Given the description of an element on the screen output the (x, y) to click on. 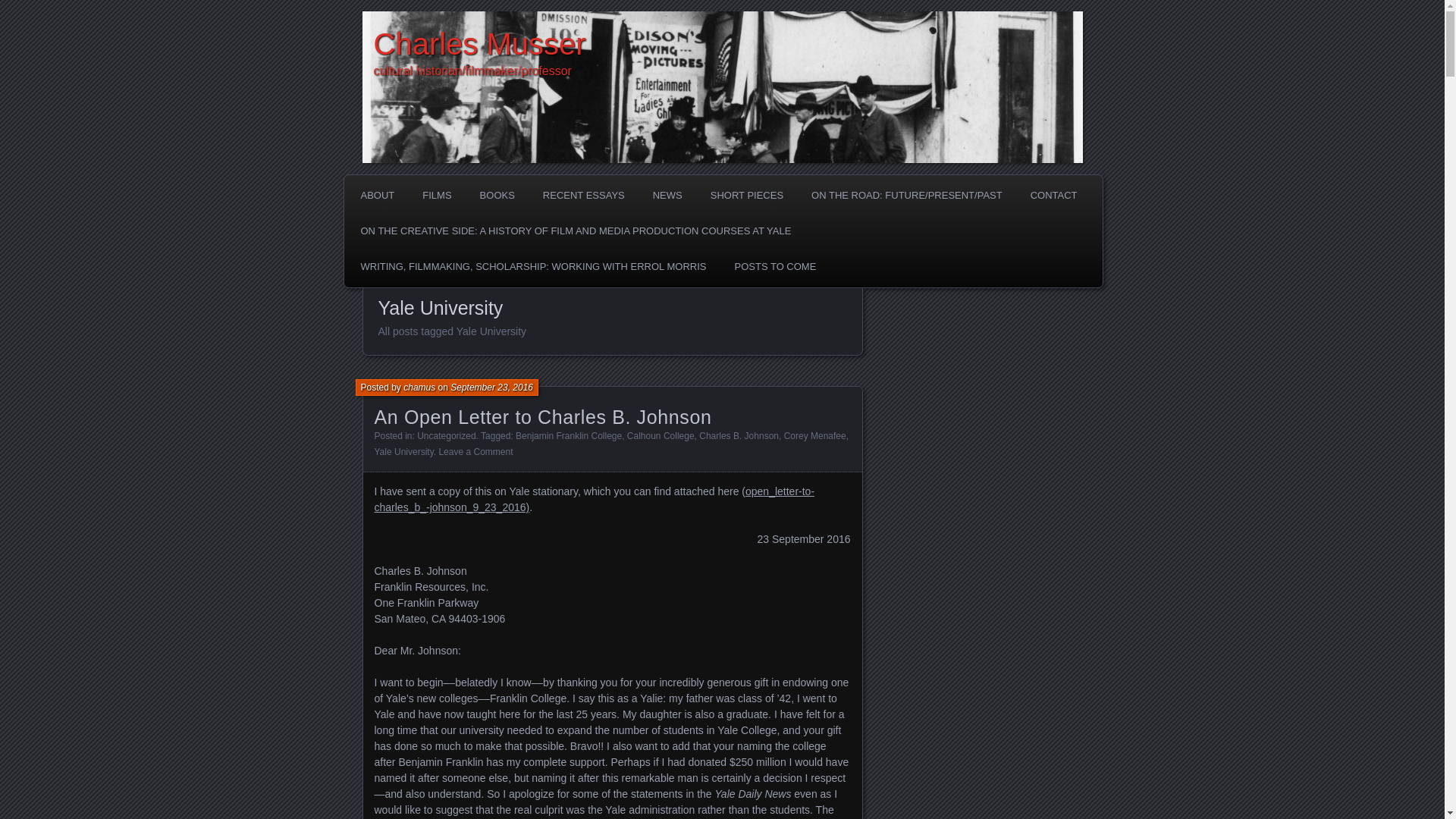
Calhoun College (660, 435)
chamus (419, 387)
ABOUT (377, 195)
FILMS (436, 195)
Leave a Comment (475, 451)
Corey Menafee (814, 435)
Yale University (403, 451)
WRITING, FILMMAKING, SCHOLARSHIP: WORKING WITH ERROL MORRIS (533, 266)
September 23, 2016 (490, 387)
An Open Letter to Charles B. Johnson (542, 416)
SHORT PIECES (746, 195)
CONTACT (1054, 195)
Benjamin Franklin College (568, 435)
Charles B. Johnson (738, 435)
